Given the description of an element on the screen output the (x, y) to click on. 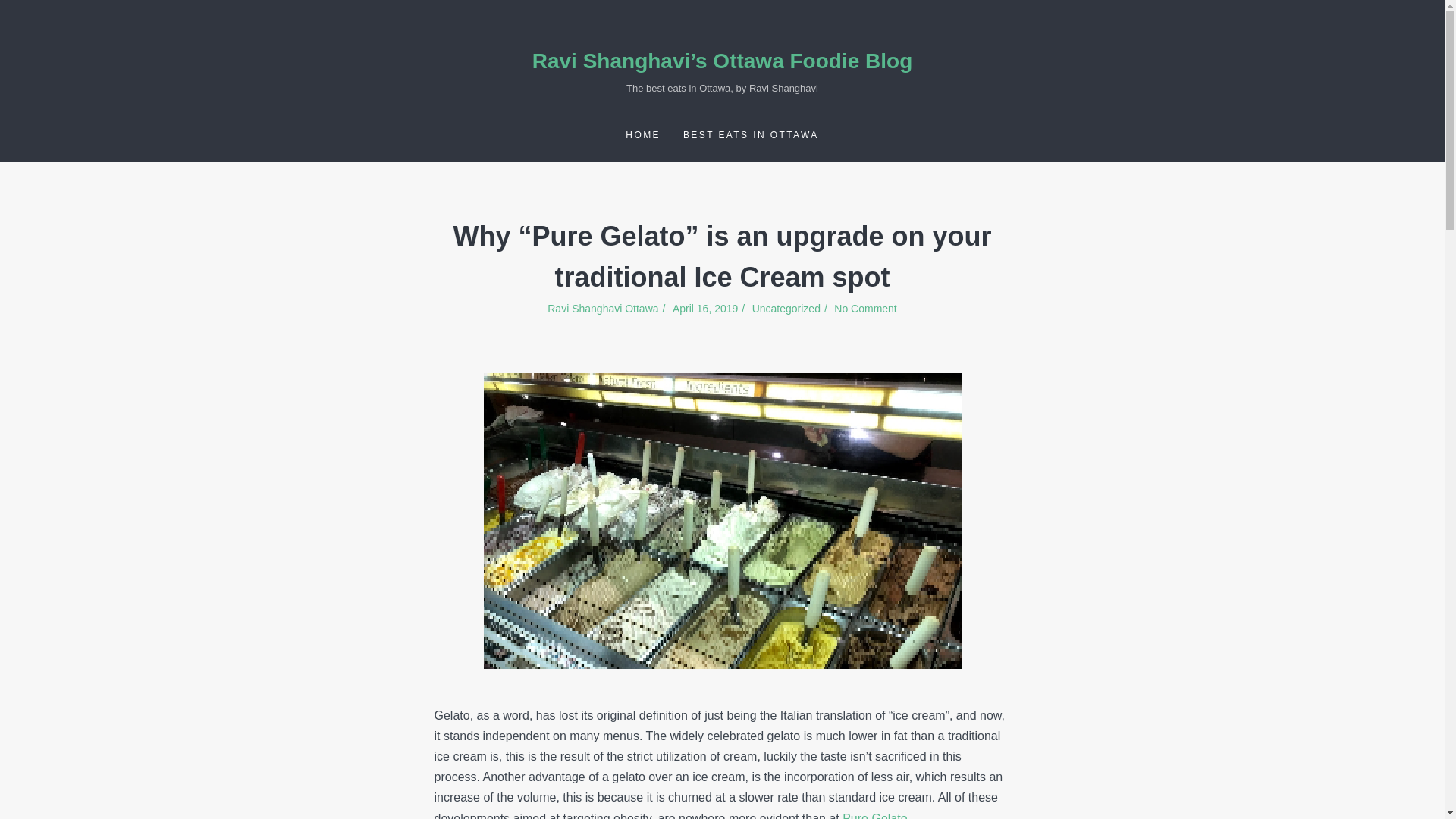
Pure Gelato (875, 815)
April 16, 2019 (710, 307)
BEST EATS IN OTTAWA (750, 133)
Uncategorized (786, 307)
Ravi Shanghavi Ottawa (607, 307)
Ravi Shanghavi Ottawa (607, 307)
No Comment (865, 307)
